Given the description of an element on the screen output the (x, y) to click on. 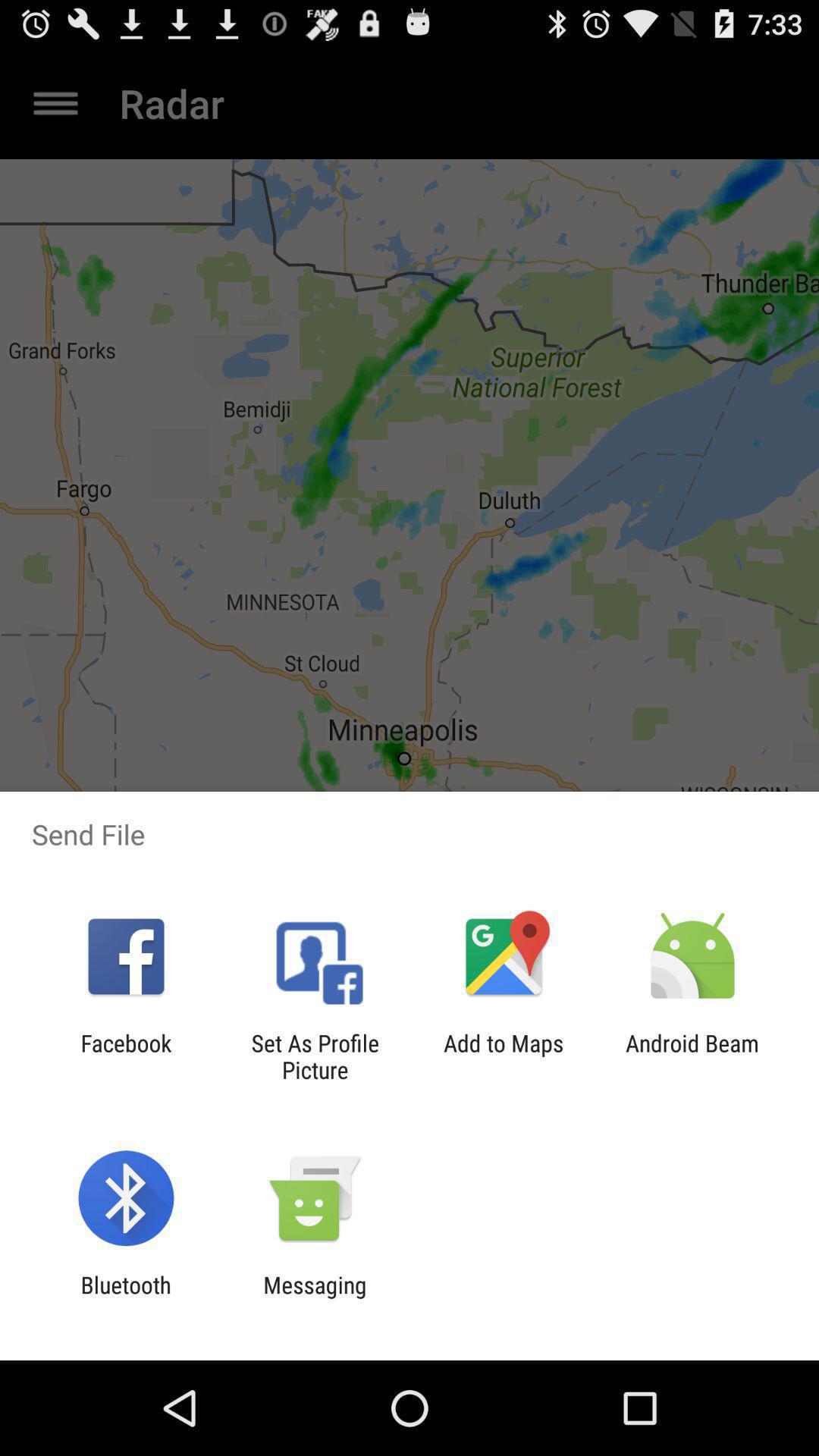
launch icon next to the bluetooth app (314, 1298)
